Given the description of an element on the screen output the (x, y) to click on. 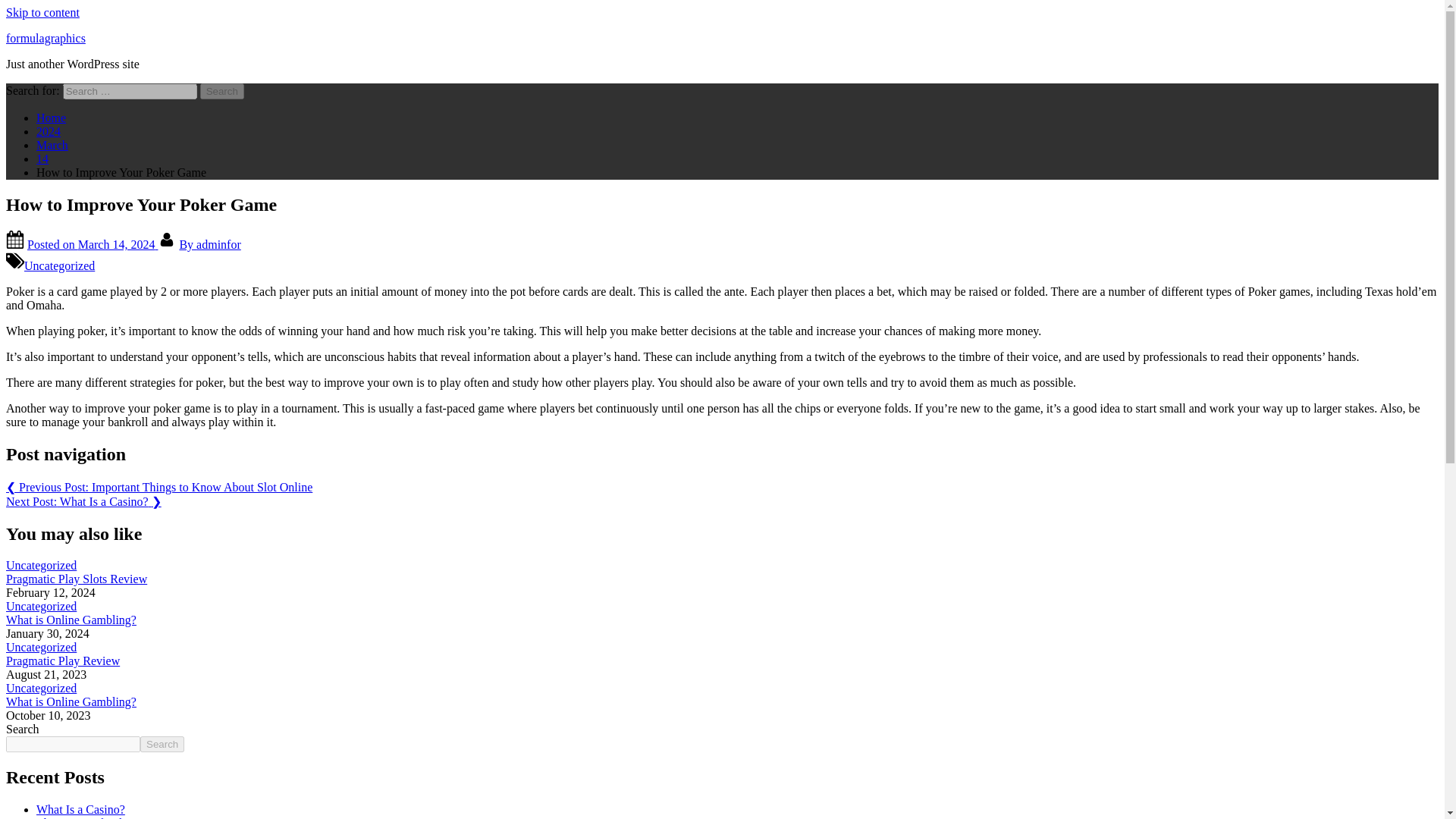
Search (222, 91)
2024 (48, 131)
Posted on March 14, 2024 (92, 244)
Uncategorized (41, 564)
Search (161, 744)
Uncategorized (41, 646)
What is Online Gambling? (70, 619)
Uncategorized (41, 605)
14 (42, 158)
What Is a Casino? (80, 809)
